Given the description of an element on the screen output the (x, y) to click on. 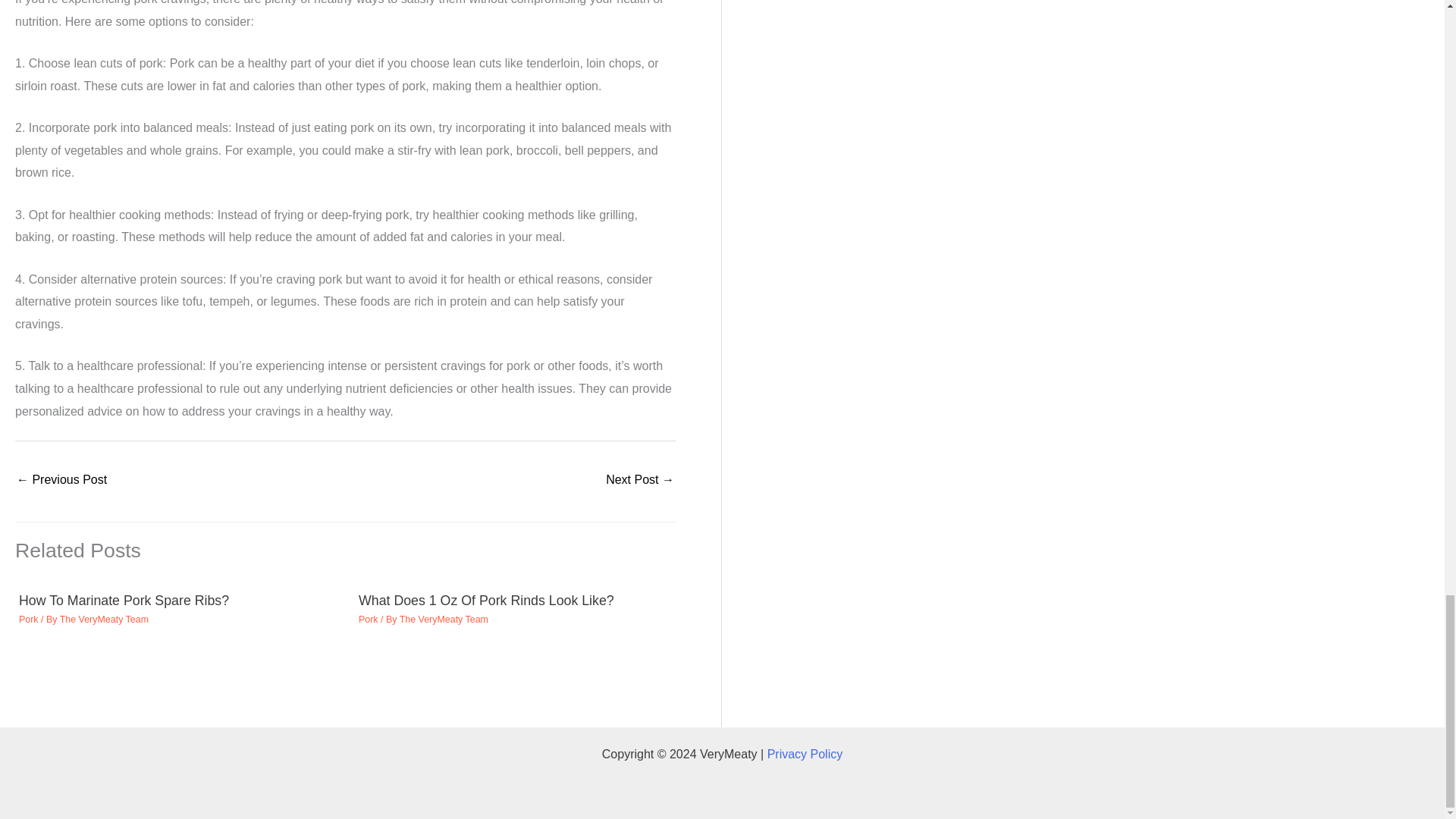
The VeryMeaty Team (103, 619)
Pork (28, 619)
View all posts by The VeryMeaty Team (103, 619)
View all posts by The VeryMeaty Team (442, 619)
What Does 1 Oz Of Pork Rinds Look Like? (486, 600)
The VeryMeaty Team (442, 619)
Why Am I Craving Lobster? The Full Guide (61, 480)
Pork (368, 619)
Why Can't I Find Canned Shrimp? A Full Guide (639, 480)
Privacy Policy (805, 753)
